Given the description of an element on the screen output the (x, y) to click on. 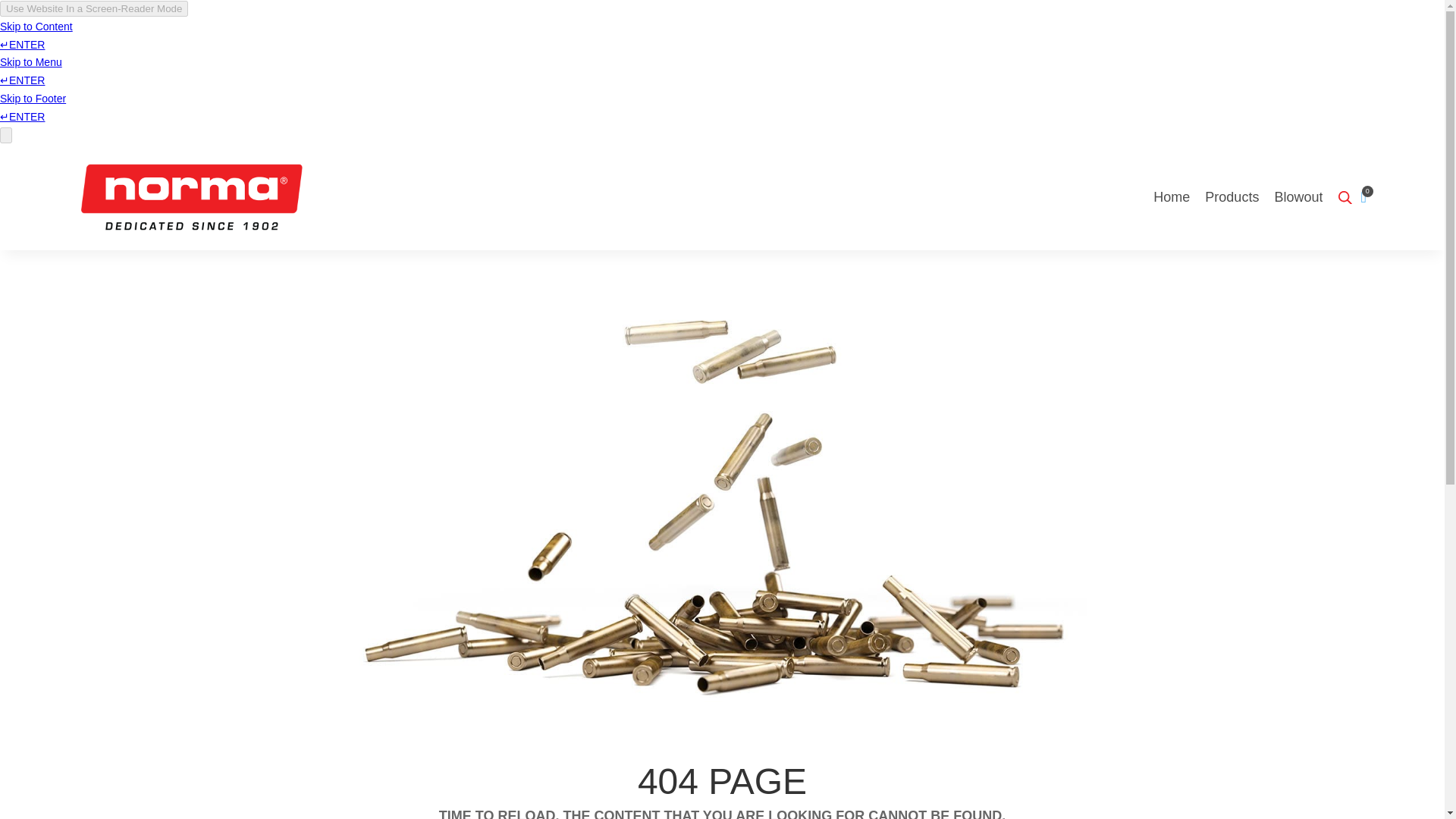
Home (1171, 197)
Products (1232, 197)
Blowout (1298, 197)
